Given the description of an element on the screen output the (x, y) to click on. 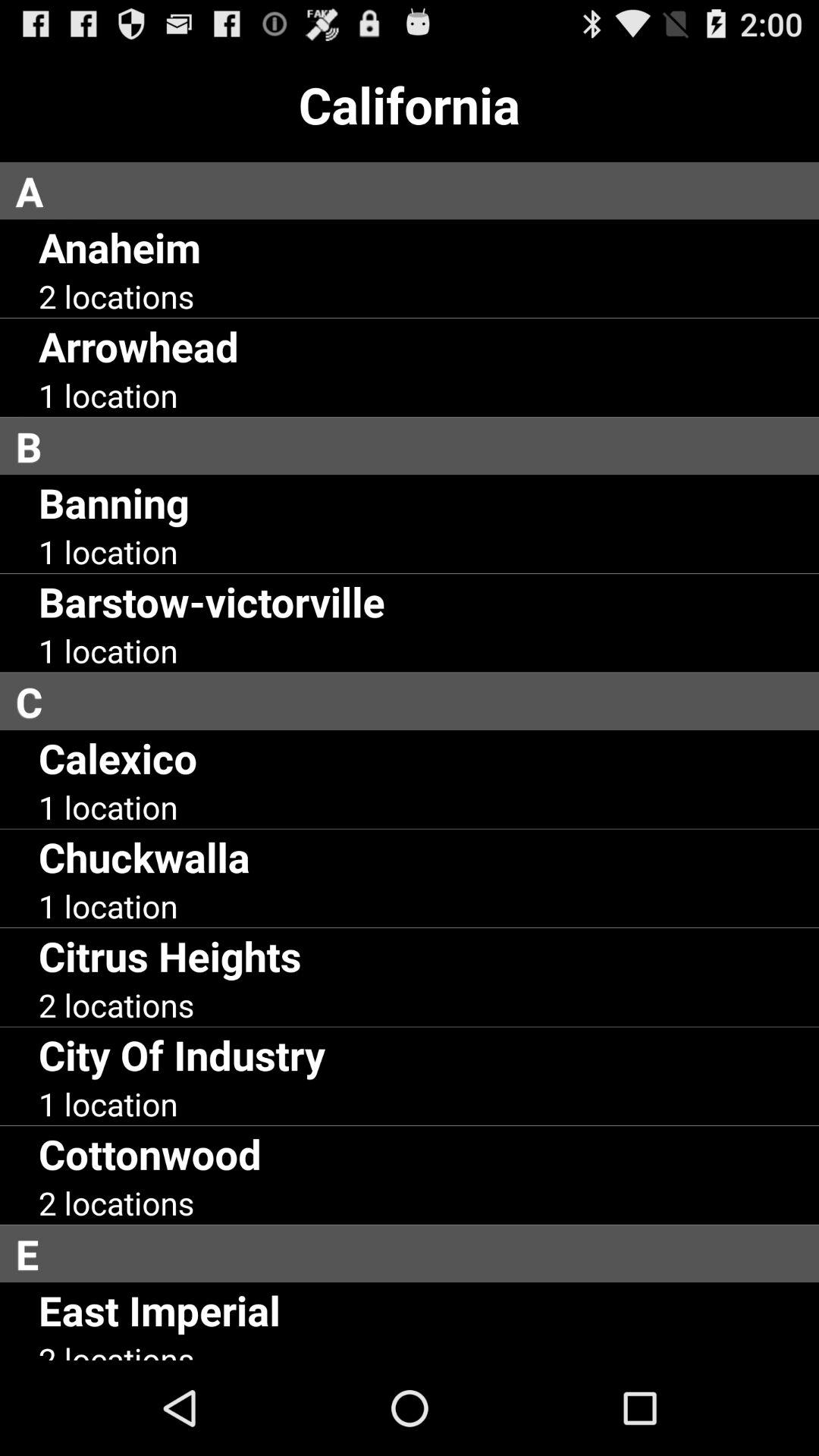
turn off the chuckwalla (144, 856)
